Given the description of an element on the screen output the (x, y) to click on. 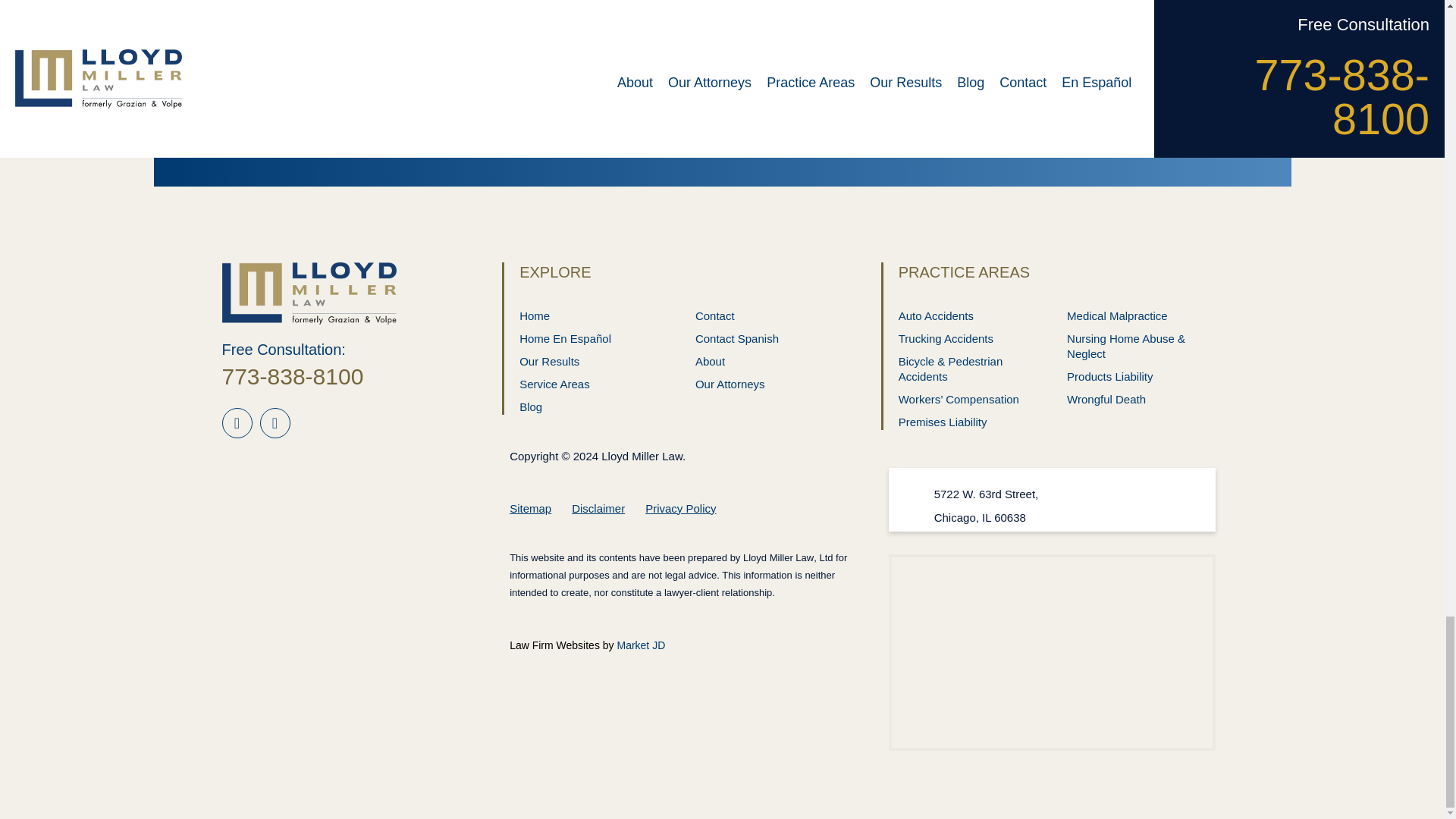
Map (1051, 648)
Maximize Your Settlement (990, 84)
